Given the description of an element on the screen output the (x, y) to click on. 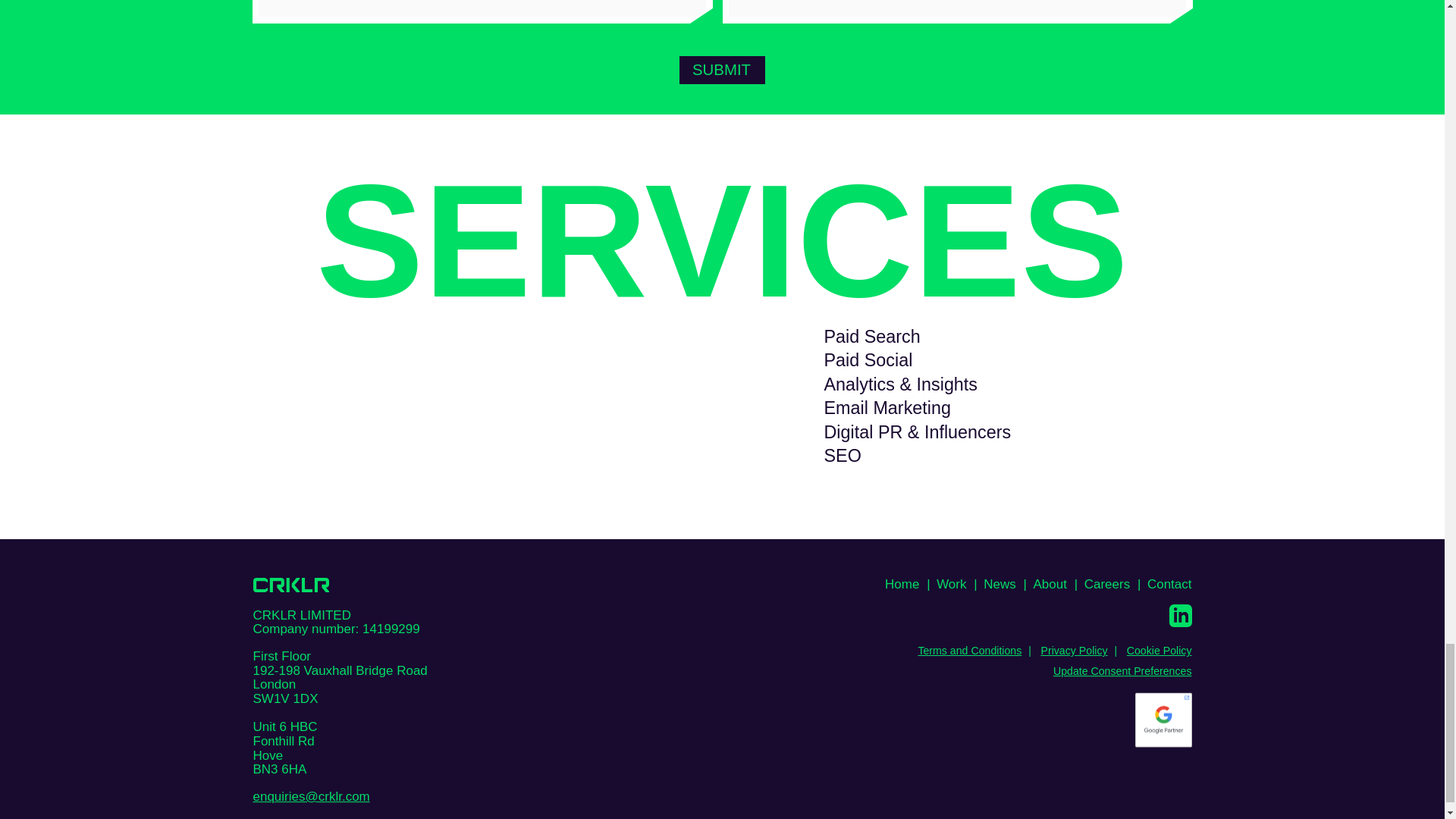
Work (951, 584)
Privacy Policy  (1073, 650)
Cookie Policy  (1159, 650)
Email Marketing (1027, 408)
Paid Search (1027, 336)
Terms and Conditions  (969, 650)
News (1000, 584)
SEO (1027, 455)
Home (901, 584)
SUBMIT (722, 70)
